Given the description of an element on the screen output the (x, y) to click on. 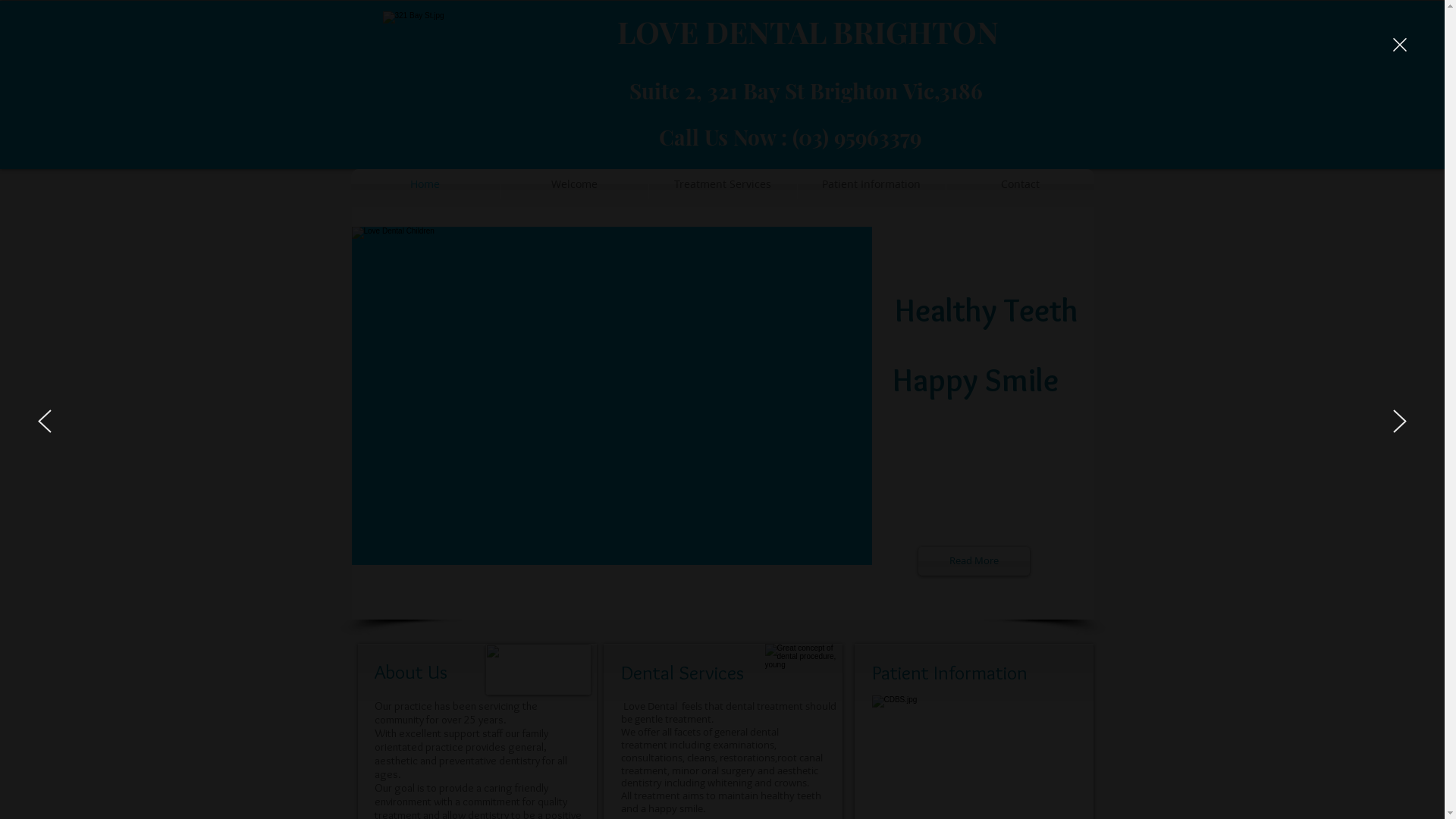
Welcome Element type: text (574, 183)
Read More Element type: text (973, 560)
Treatment Services Element type: text (723, 183)
Contact Element type: text (1020, 183)
Home Element type: text (424, 183)
Patient Information Element type: text (871, 183)
